Given the description of an element on the screen output the (x, y) to click on. 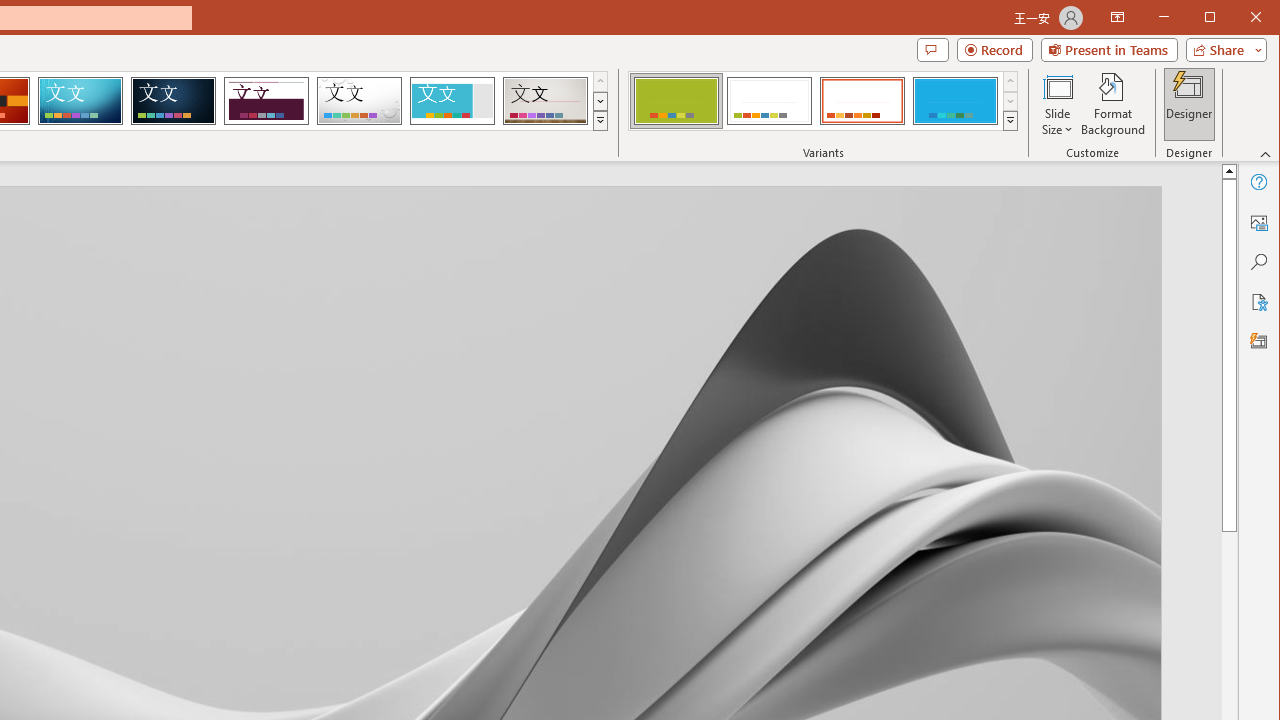
Basis Variant 4 (955, 100)
Droplet (359, 100)
Variants (1010, 120)
Circuit (80, 100)
